Given the description of an element on the screen output the (x, y) to click on. 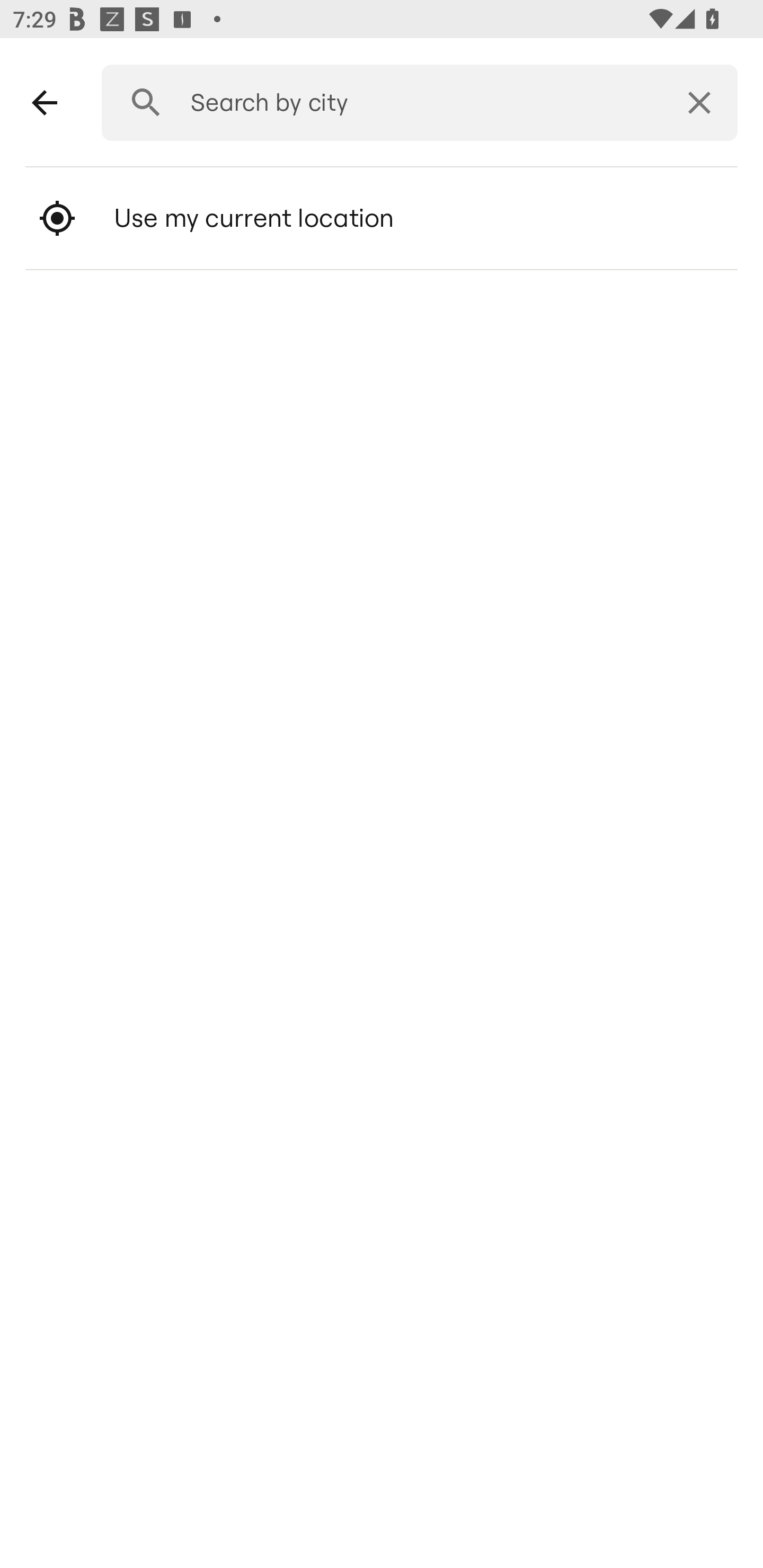
Back (44, 102)
Search by city (413, 102)
Clear (699, 102)
Use my current location (381, 218)
